Given the description of an element on the screen output the (x, y) to click on. 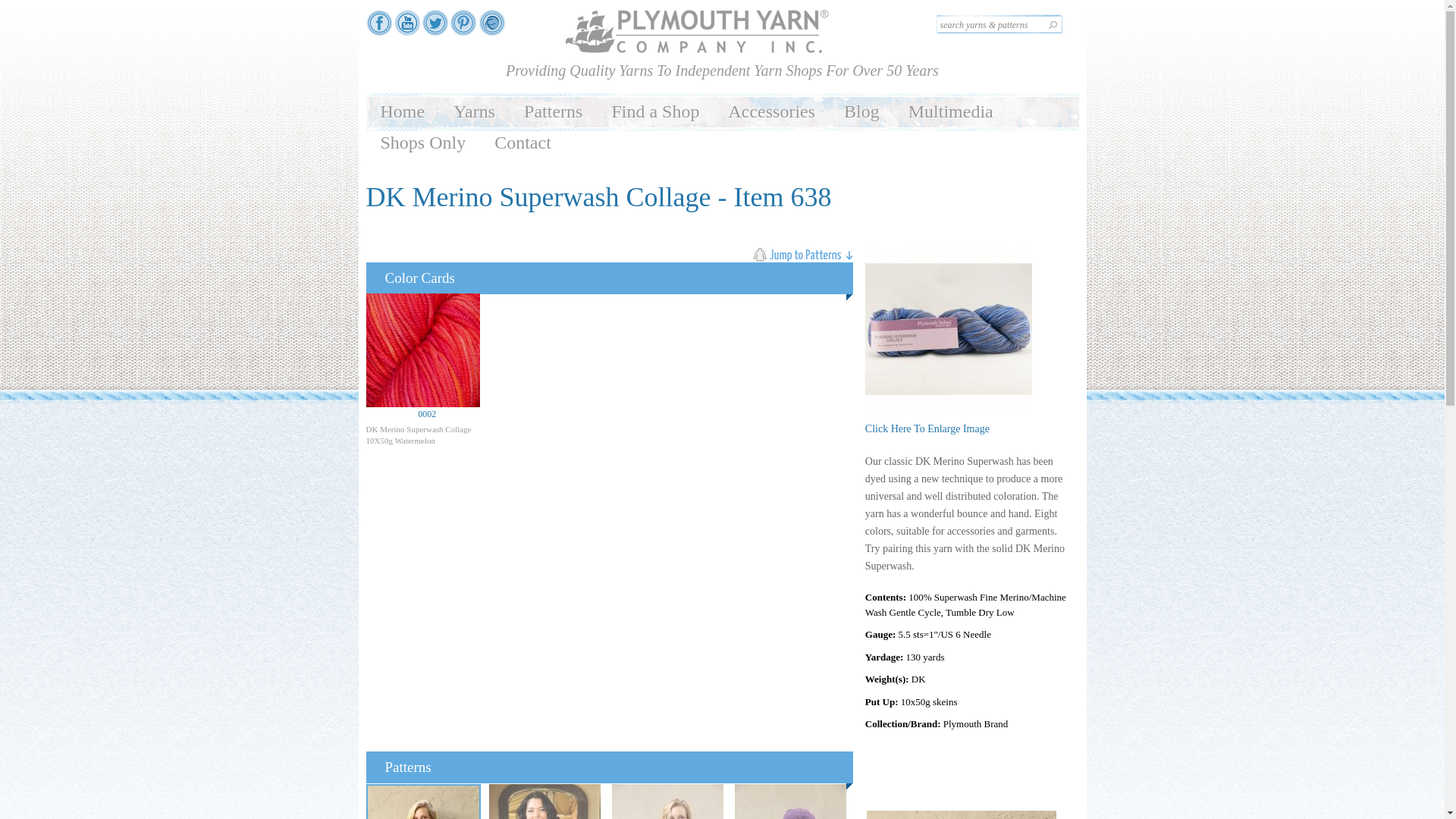
Blog (861, 111)
YouTube (407, 28)
Multimedia (950, 111)
Click Here To Enlarge Image (927, 428)
Find a Shop (654, 111)
Ravelry (492, 28)
Yarns (474, 111)
Shops Only (422, 142)
Pinterest (462, 28)
Contact (523, 142)
Accessories (771, 111)
Home (402, 111)
Enter the terms you wish to search for. (998, 24)
Facebook (378, 28)
Skip to main content (693, 1)
